Given the description of an element on the screen output the (x, y) to click on. 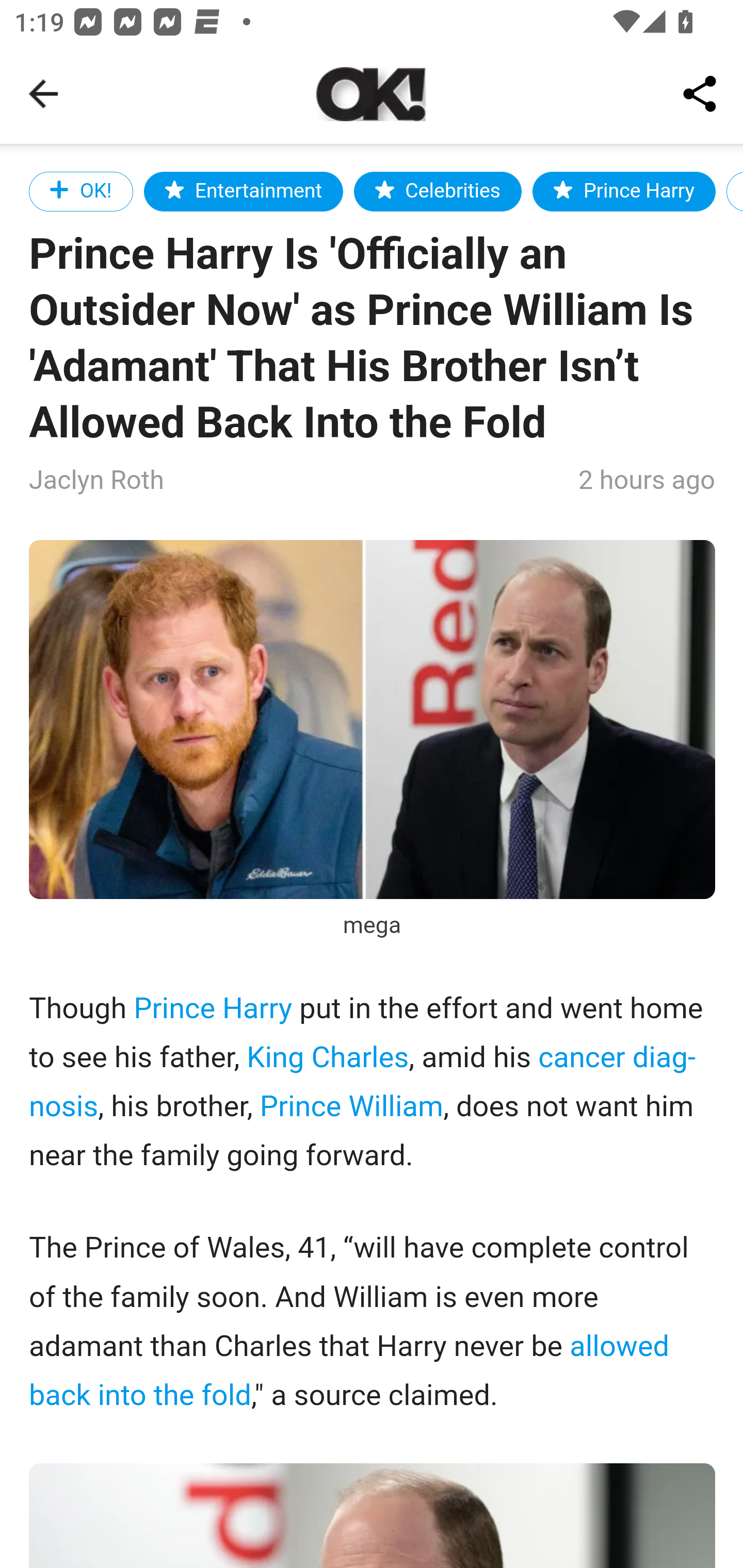
OK! (80, 191)
Entertainment (243, 191)
Celebrities (437, 191)
Prince Harry (623, 191)
Prince Harry (212, 1009)
cancer diagnosis (362, 1082)
King Charles (327, 1057)
Prince William (350, 1106)
allowed back into the fold (348, 1371)
